Given the description of an element on the screen output the (x, y) to click on. 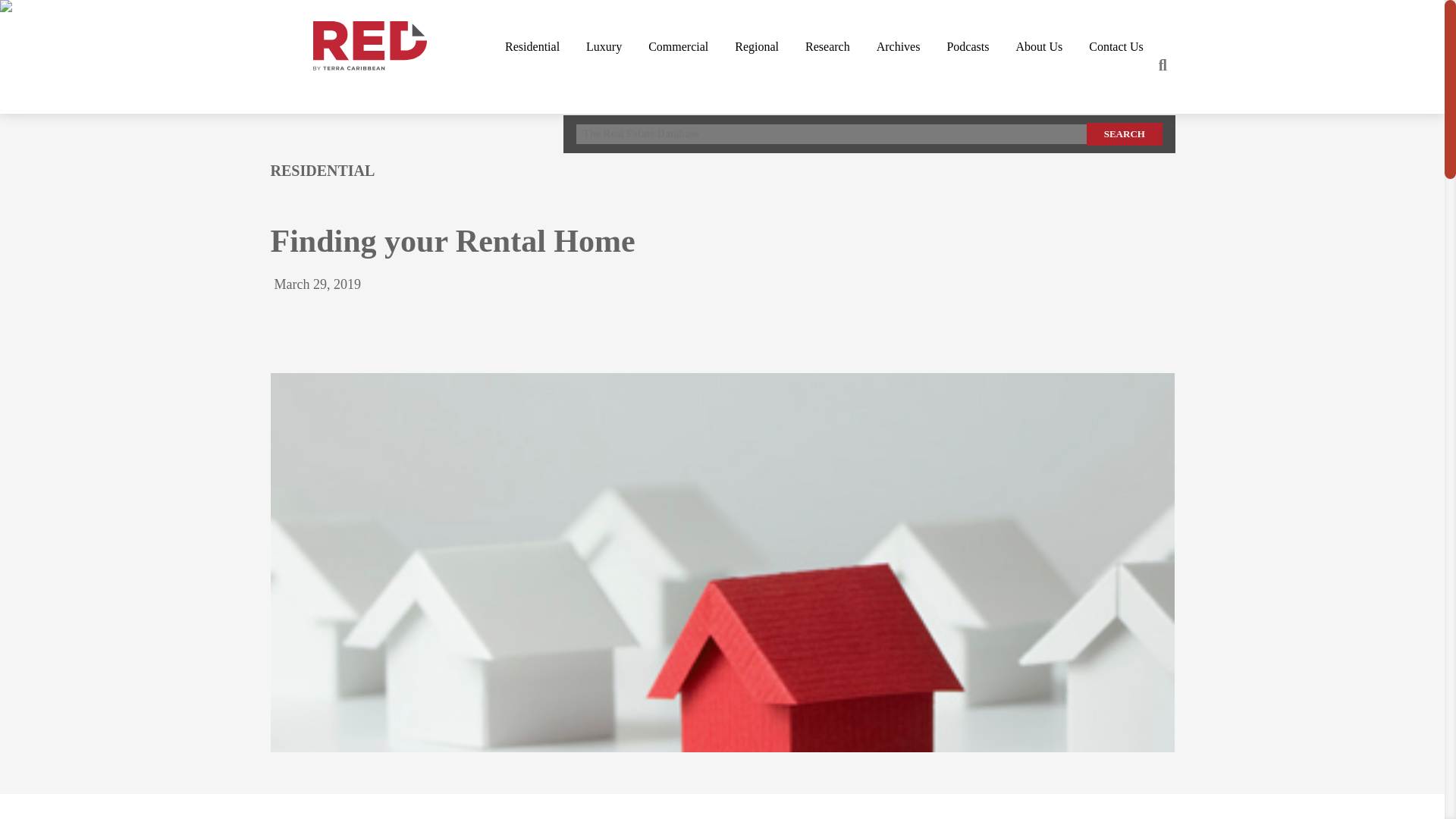
Residential (531, 46)
SEARCH (1123, 133)
About Us (1038, 46)
Contact Us (1115, 46)
Submit the search query. (1123, 133)
Commercial (678, 46)
RED by Terra Caribbean (369, 45)
